Given the description of an element on the screen output the (x, y) to click on. 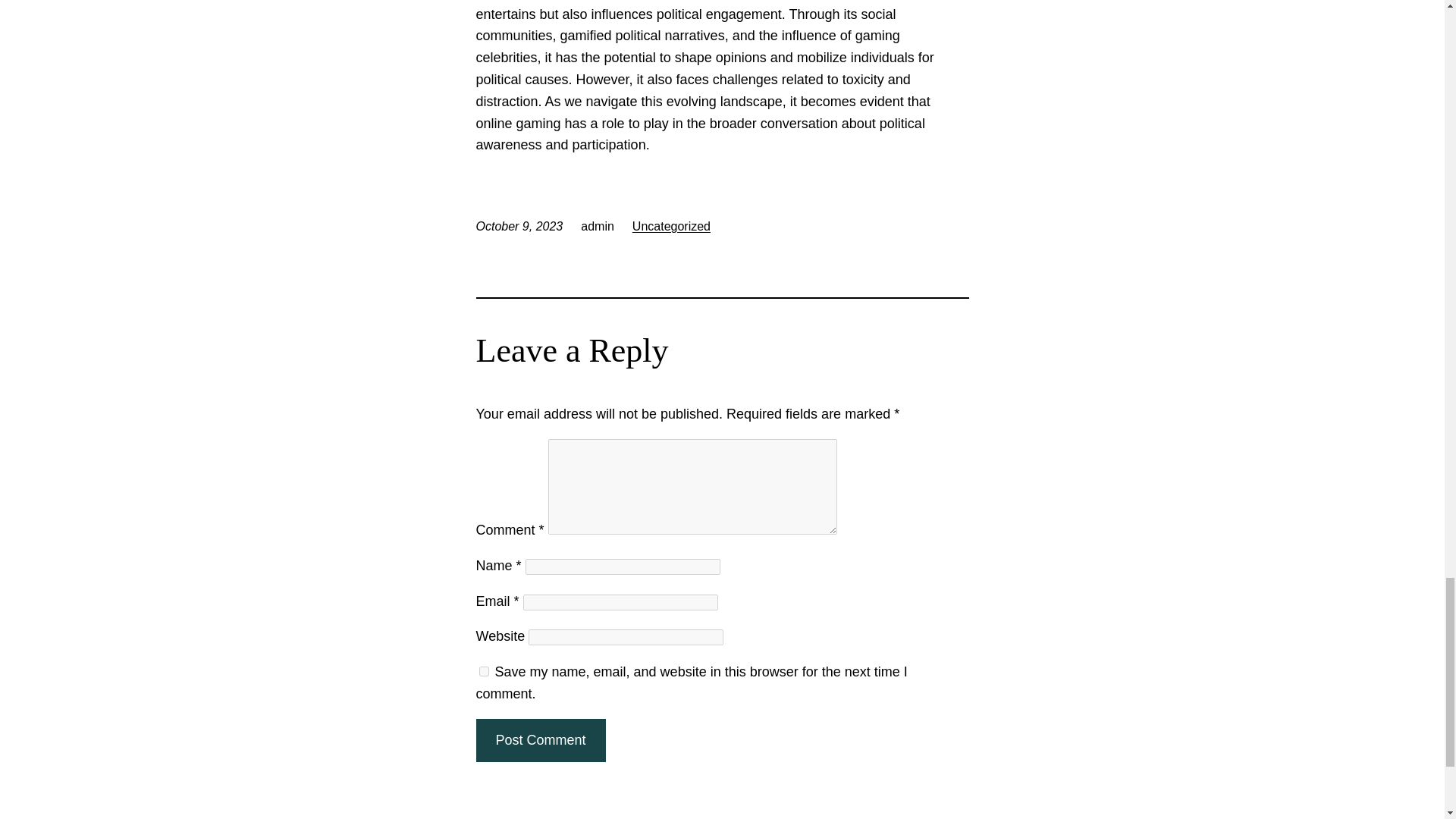
yes (484, 671)
Uncategorized (670, 226)
Post Comment (540, 740)
Post Comment (540, 740)
